Given the description of an element on the screen output the (x, y) to click on. 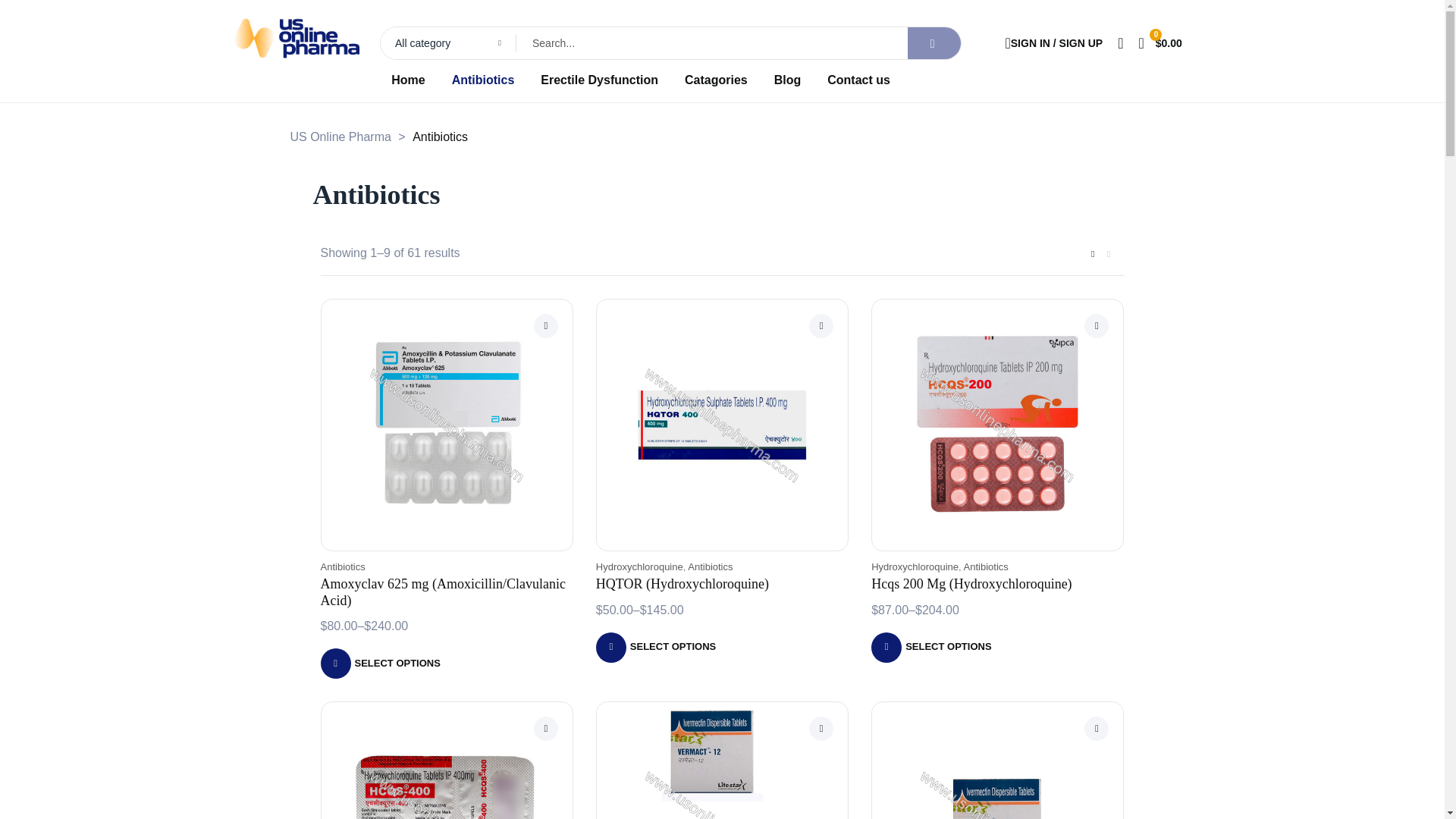
Search (643, 42)
All category (448, 42)
All category (448, 42)
Go to US Online Pharma. (339, 136)
